Given the description of an element on the screen output the (x, y) to click on. 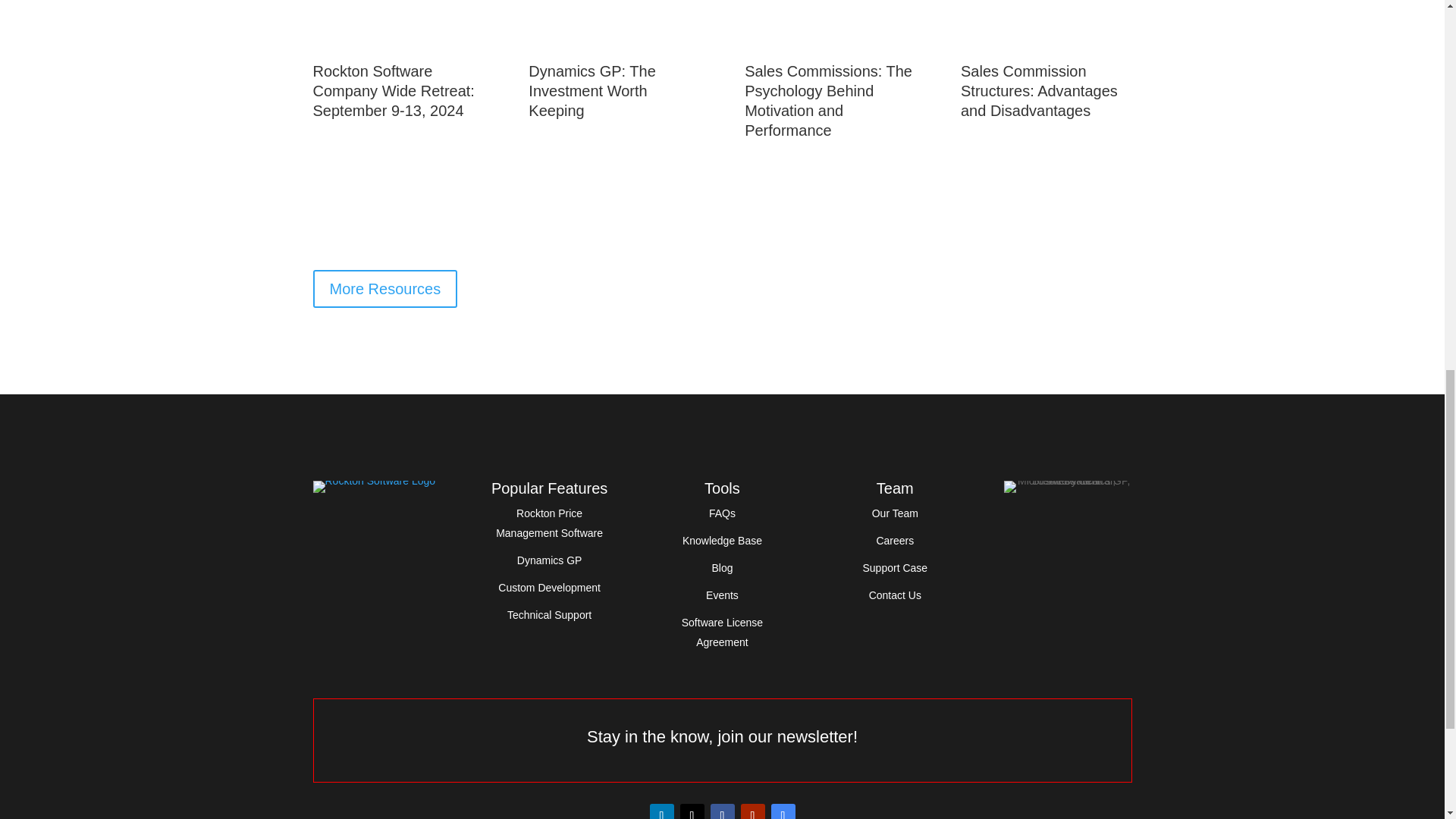
Follow on X (691, 811)
Follow on LinkedIn (660, 811)
Follow on Google (782, 811)
Follow on Youtube (751, 811)
Follow on Facebook (721, 811)
